Given the description of an element on the screen output the (x, y) to click on. 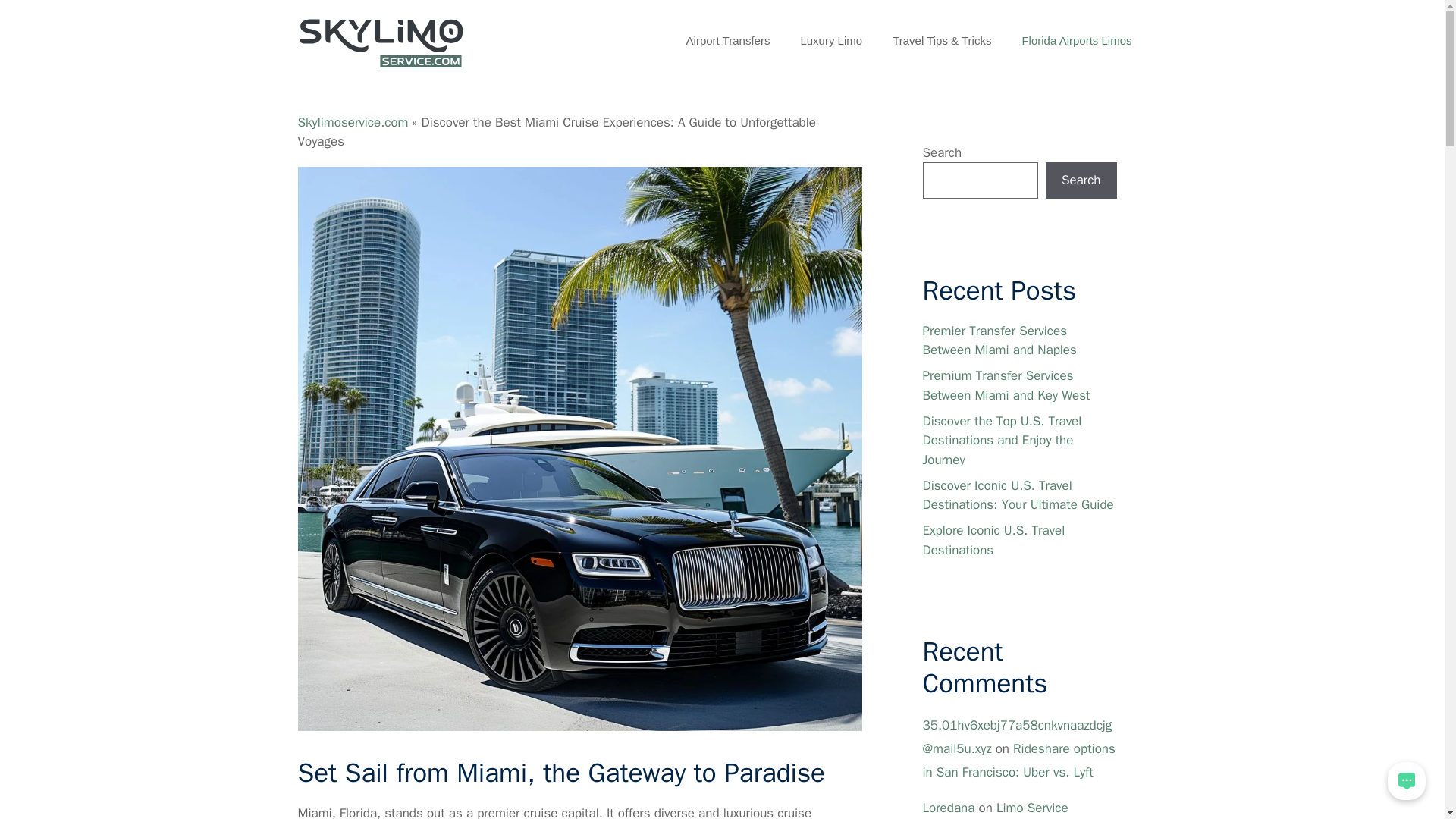
Premium Transfer Services Between Miami and Key West (1005, 385)
Search (1080, 180)
Luxury Limo (830, 40)
Airport Transfers (728, 40)
Rideshare options in San Francisco: Uber vs. Lyft (1018, 760)
Florida Airports Limos (1076, 40)
Loredana (947, 807)
Premier Transfer Services Between Miami and Naples (998, 340)
